Given the description of an element on the screen output the (x, y) to click on. 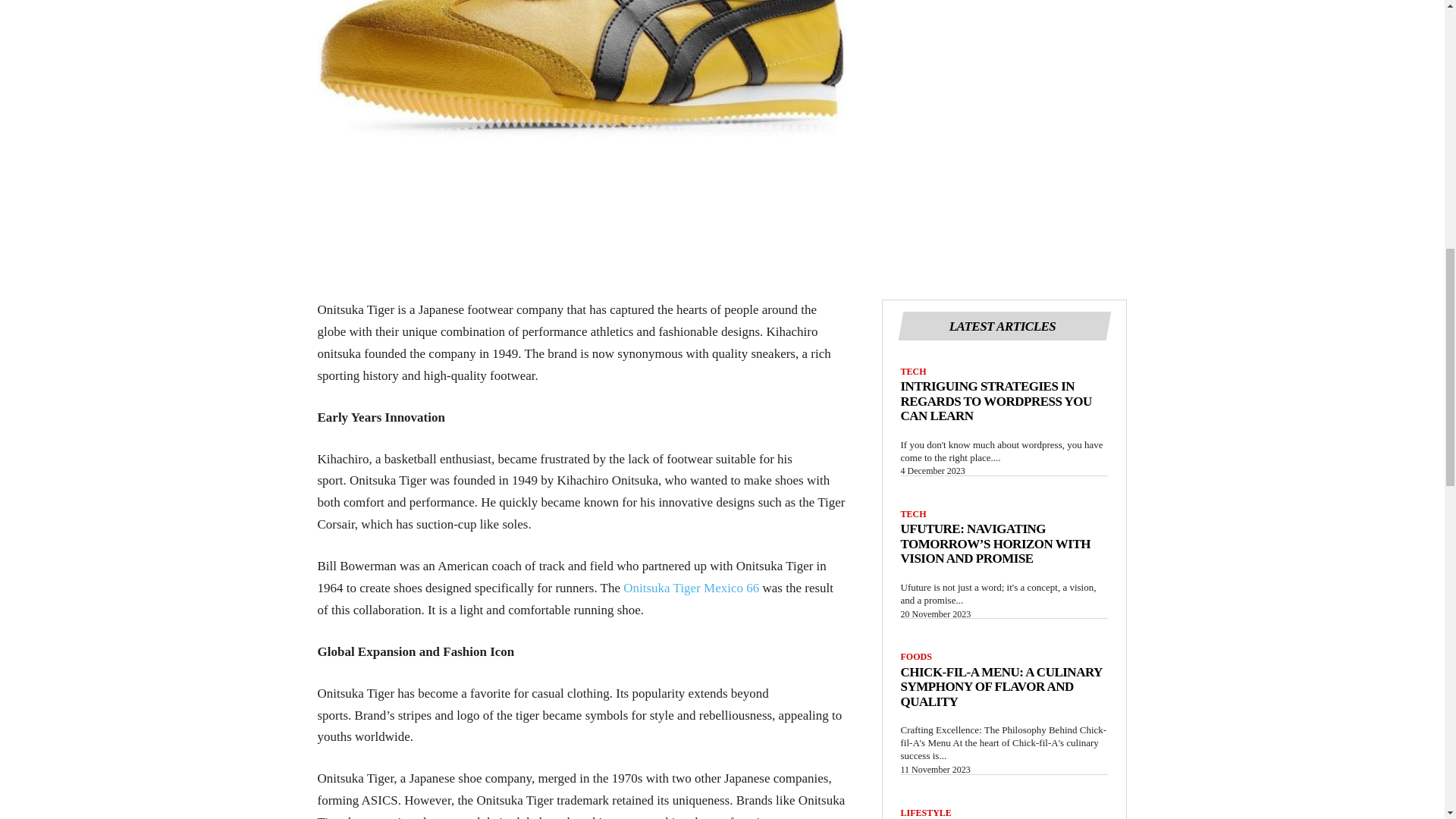
Onitsuka Tiger Mexico 66 (690, 587)
